Given the description of an element on the screen output the (x, y) to click on. 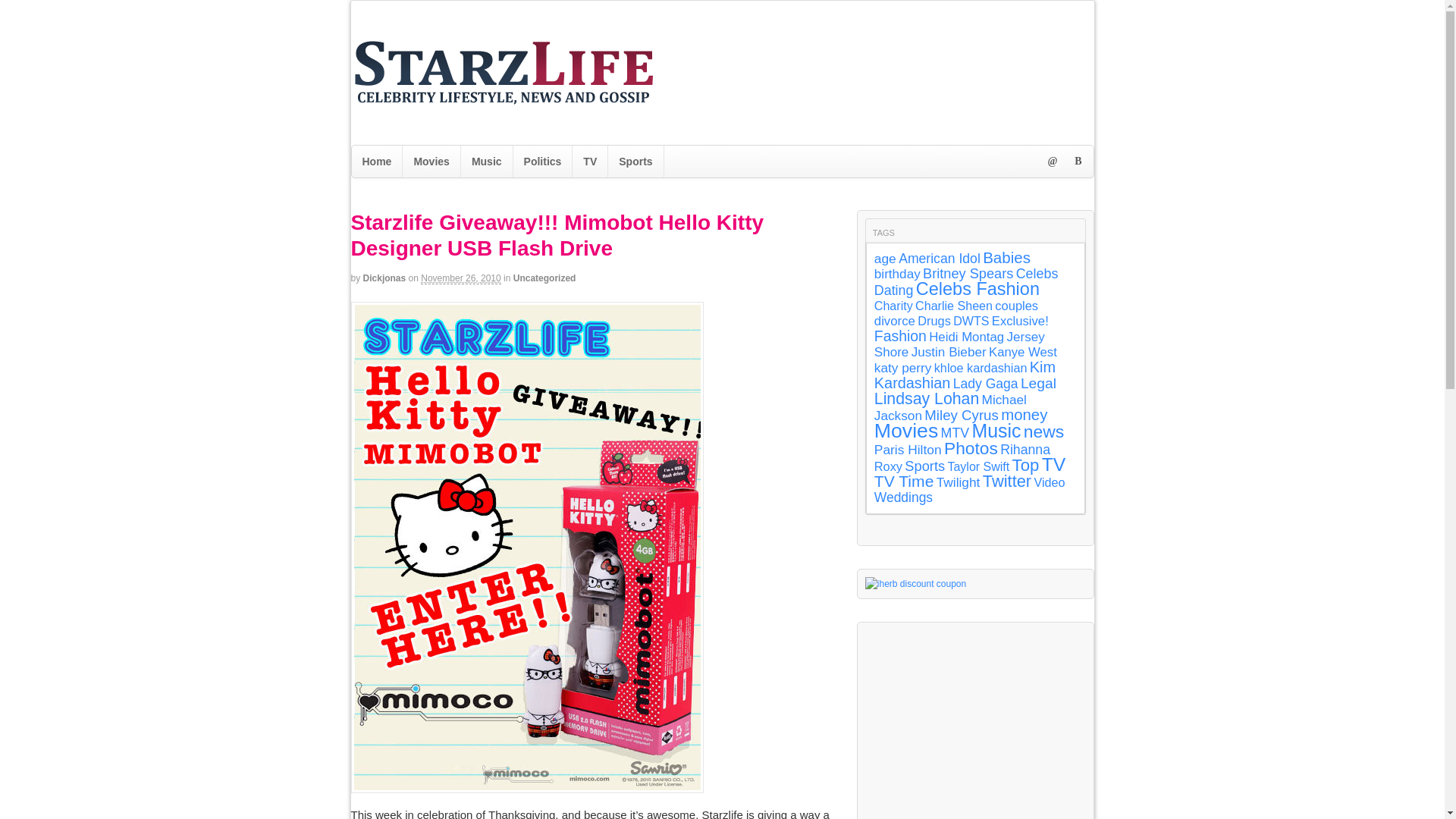
couples (1016, 305)
Politics (542, 161)
Celebs Fashion (977, 288)
Babies (1006, 257)
Movies (431, 161)
TAGS (883, 231)
Music (486, 161)
Charlie Sheen (953, 305)
Uncategorized (544, 277)
TV (589, 161)
age (885, 258)
Drugs (933, 320)
Home (377, 161)
divorce (895, 320)
Charity (893, 305)
